Given the description of an element on the screen output the (x, y) to click on. 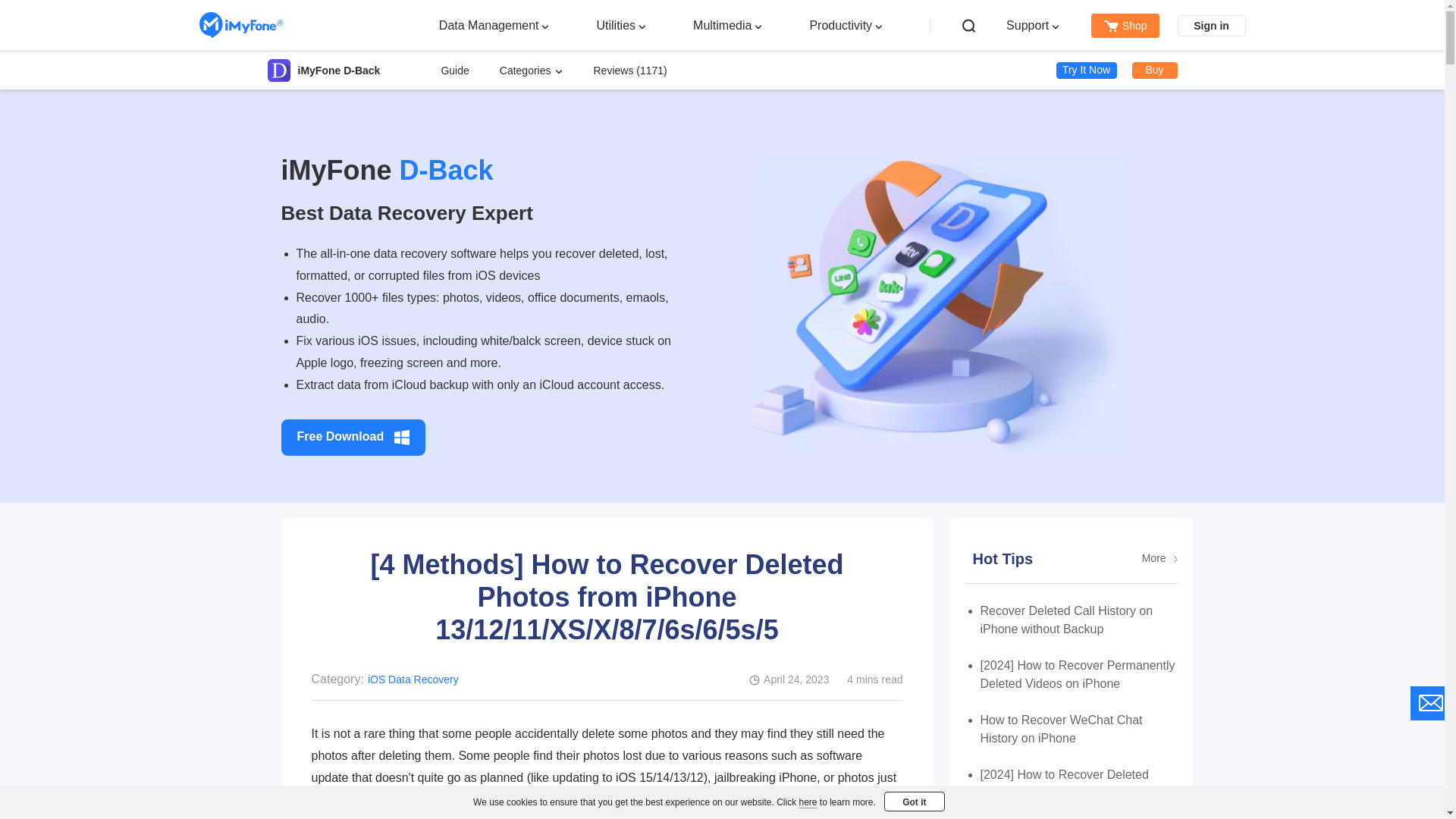
Utilities (614, 24)
Multimedia (722, 24)
Data Management (488, 24)
